Given the description of an element on the screen output the (x, y) to click on. 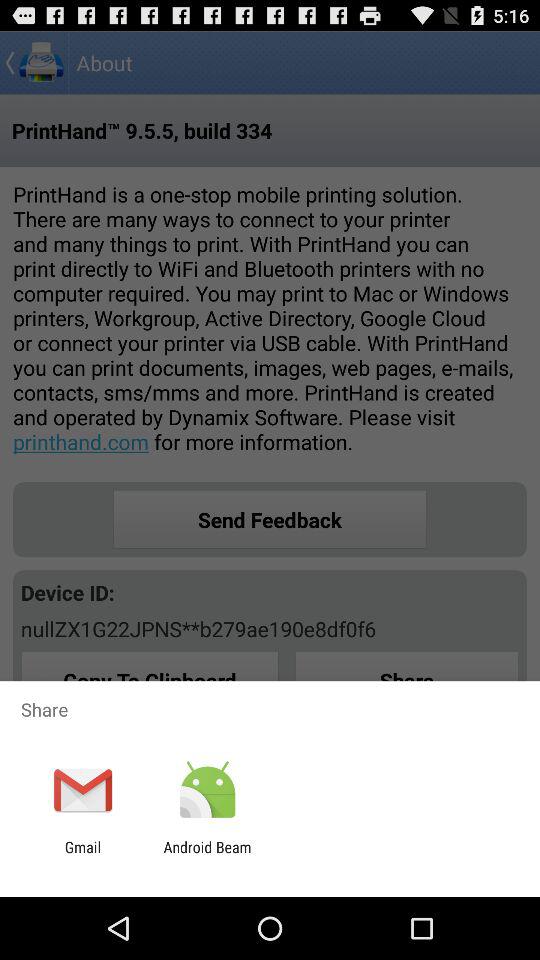
launch icon to the left of the android beam icon (82, 856)
